Given the description of an element on the screen output the (x, y) to click on. 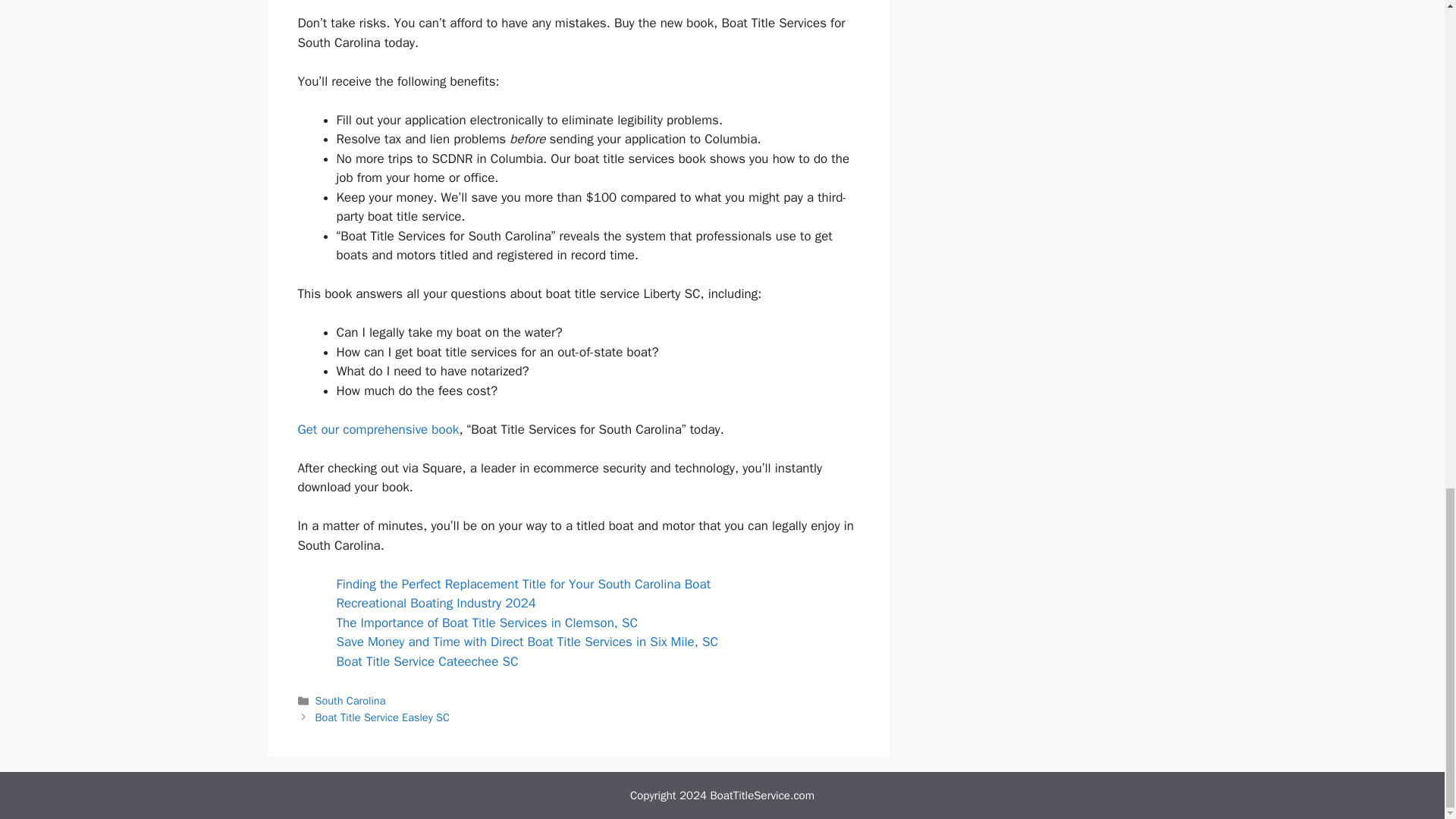
Boat Title Service Cateechee SC (427, 661)
Get our comprehensive book (377, 429)
South Carolina (350, 700)
Recreational Boating Industry 2024 (435, 602)
The Importance of Boat Title Services in Clemson, SC (487, 622)
Boat Title Service Easley SC (382, 716)
